Given the description of an element on the screen output the (x, y) to click on. 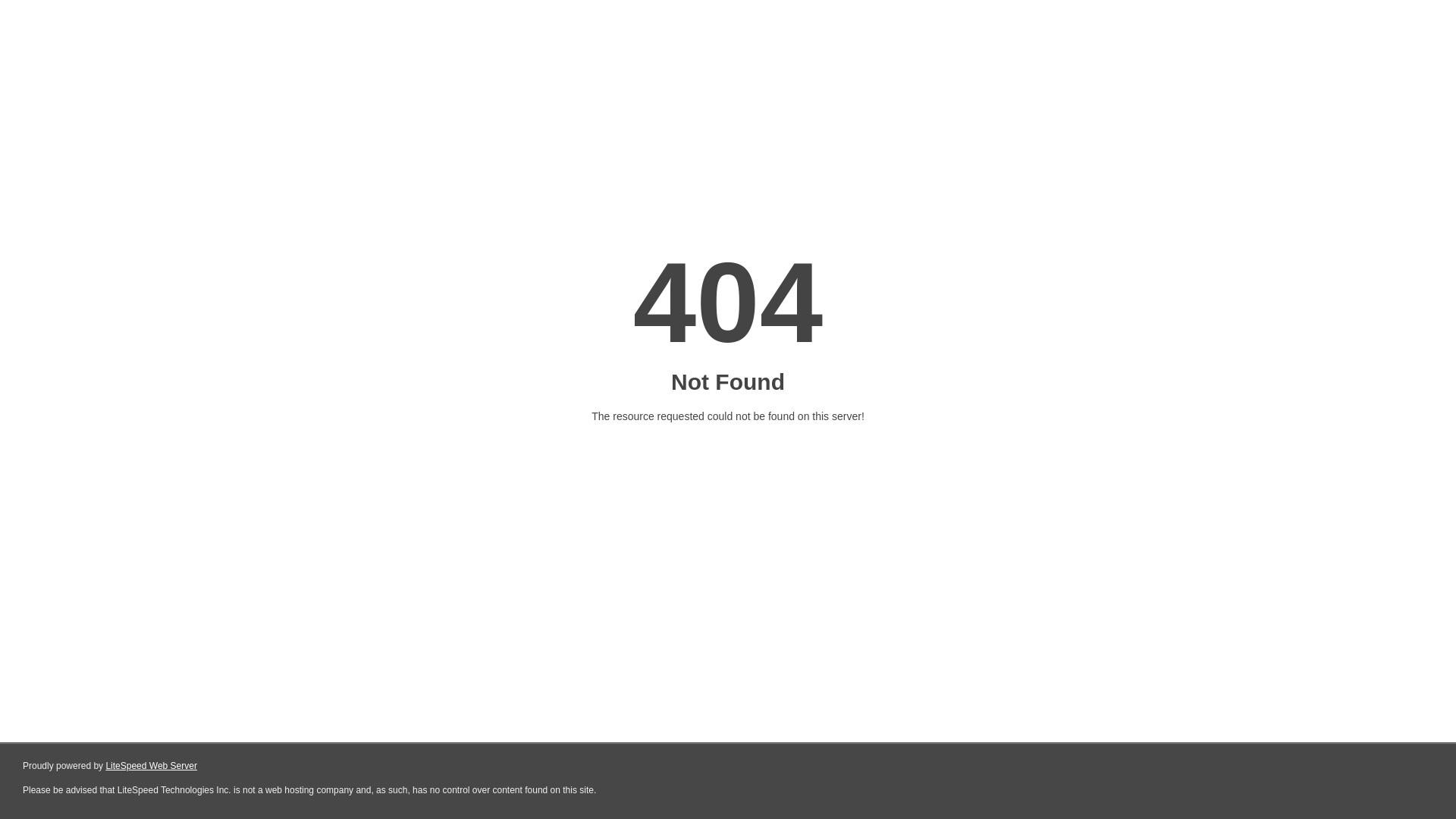
LiteSpeed Web Server (150, 765)
